Given the description of an element on the screen output the (x, y) to click on. 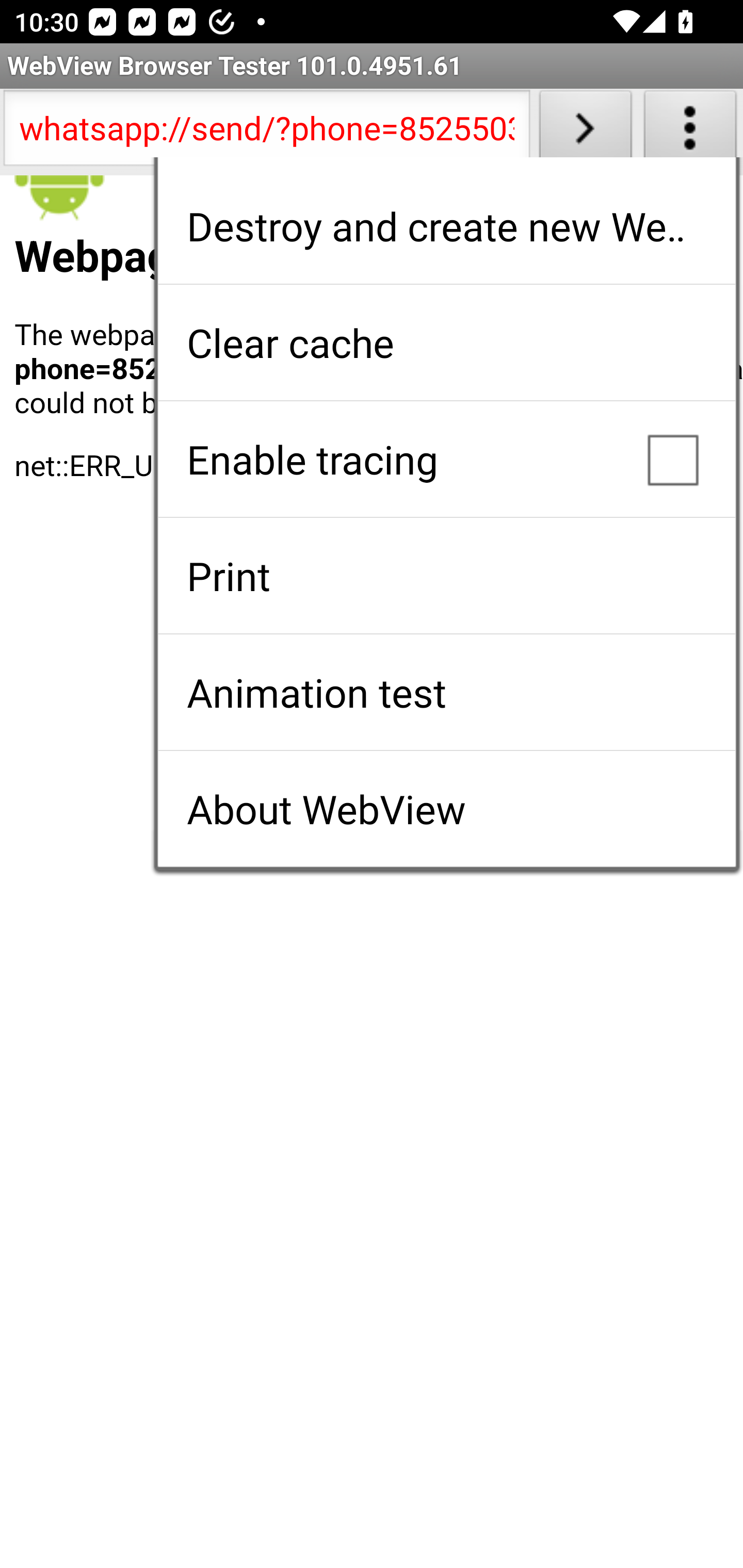
Destroy and create new WebView (446, 225)
Clear cache (446, 342)
Enable tracing (446, 459)
Print (446, 575)
Animation test (446, 692)
About WebView (446, 809)
